Given the description of an element on the screen output the (x, y) to click on. 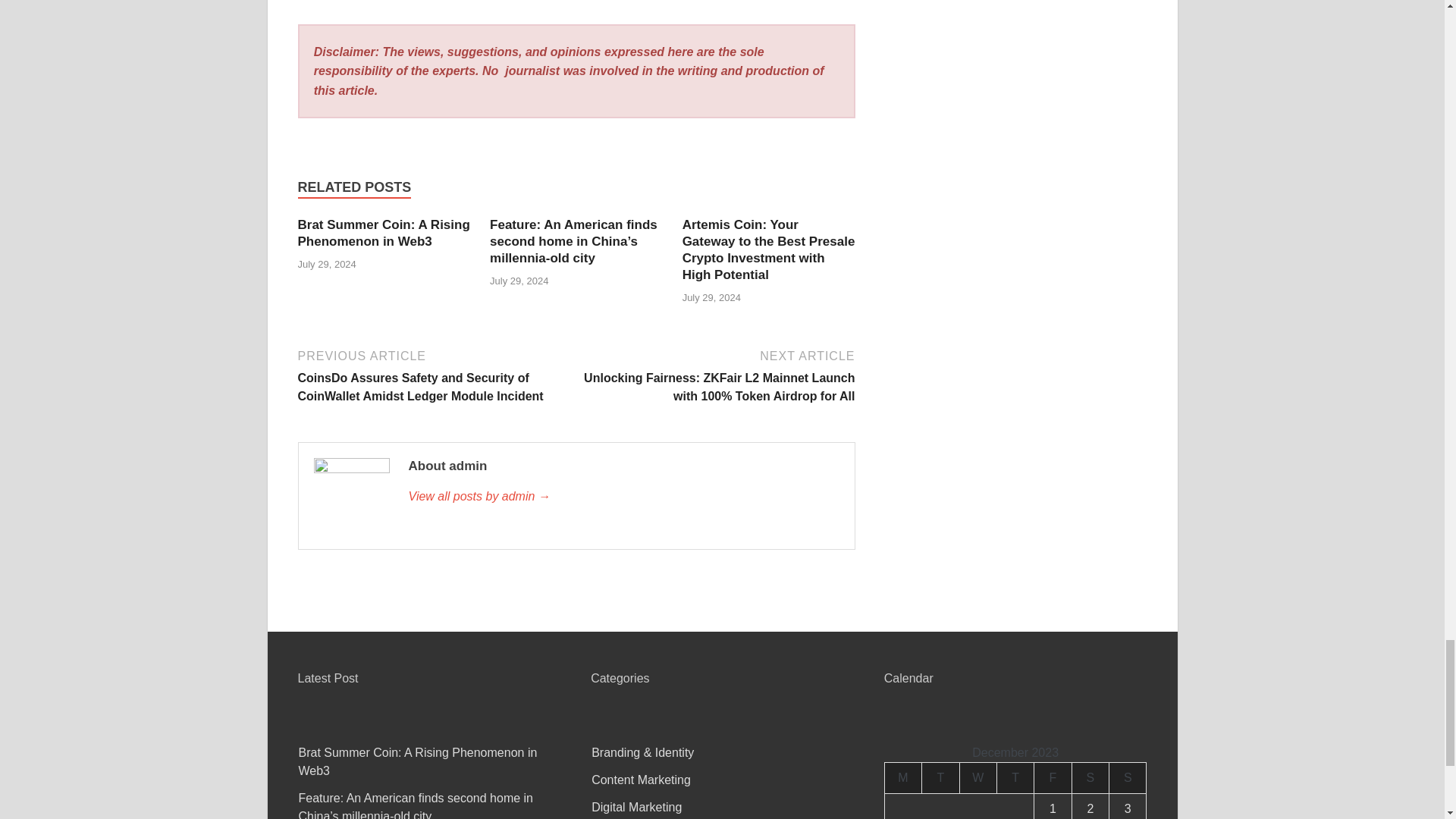
Sunday (1128, 777)
Thursday (1014, 777)
Monday (902, 777)
Wednesday (977, 777)
admin (622, 496)
Tuesday (940, 777)
Friday (1052, 777)
Brat Summer Coin: A Rising Phenomenon in Web3 (382, 232)
Brat Summer Coin: A Rising Phenomenon in Web3 (382, 232)
Saturday (1089, 777)
